Given the description of an element on the screen output the (x, y) to click on. 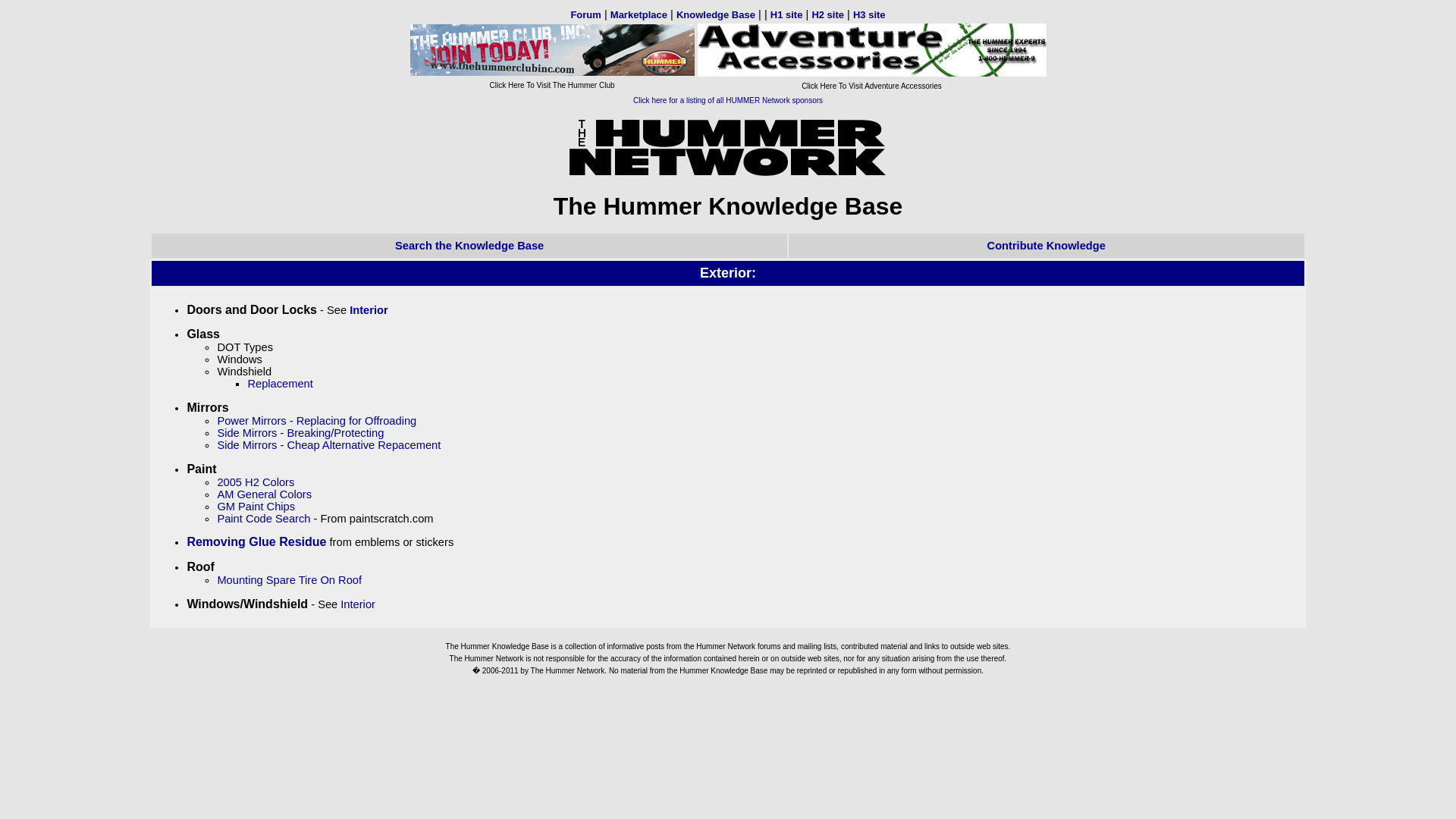
Search the Knowledge Base (468, 245)
H1 site (786, 14)
Power Mirrors - Replacing for Offroading (316, 420)
Paint Code Search (263, 518)
Interior (368, 309)
H3 site (869, 14)
Removing Glue Residue (256, 541)
Click Here To Visit The Hummer Club (551, 78)
Contribute Knowledge (1046, 245)
Mounting Spare Tire On Roof (288, 580)
